Given the description of an element on the screen output the (x, y) to click on. 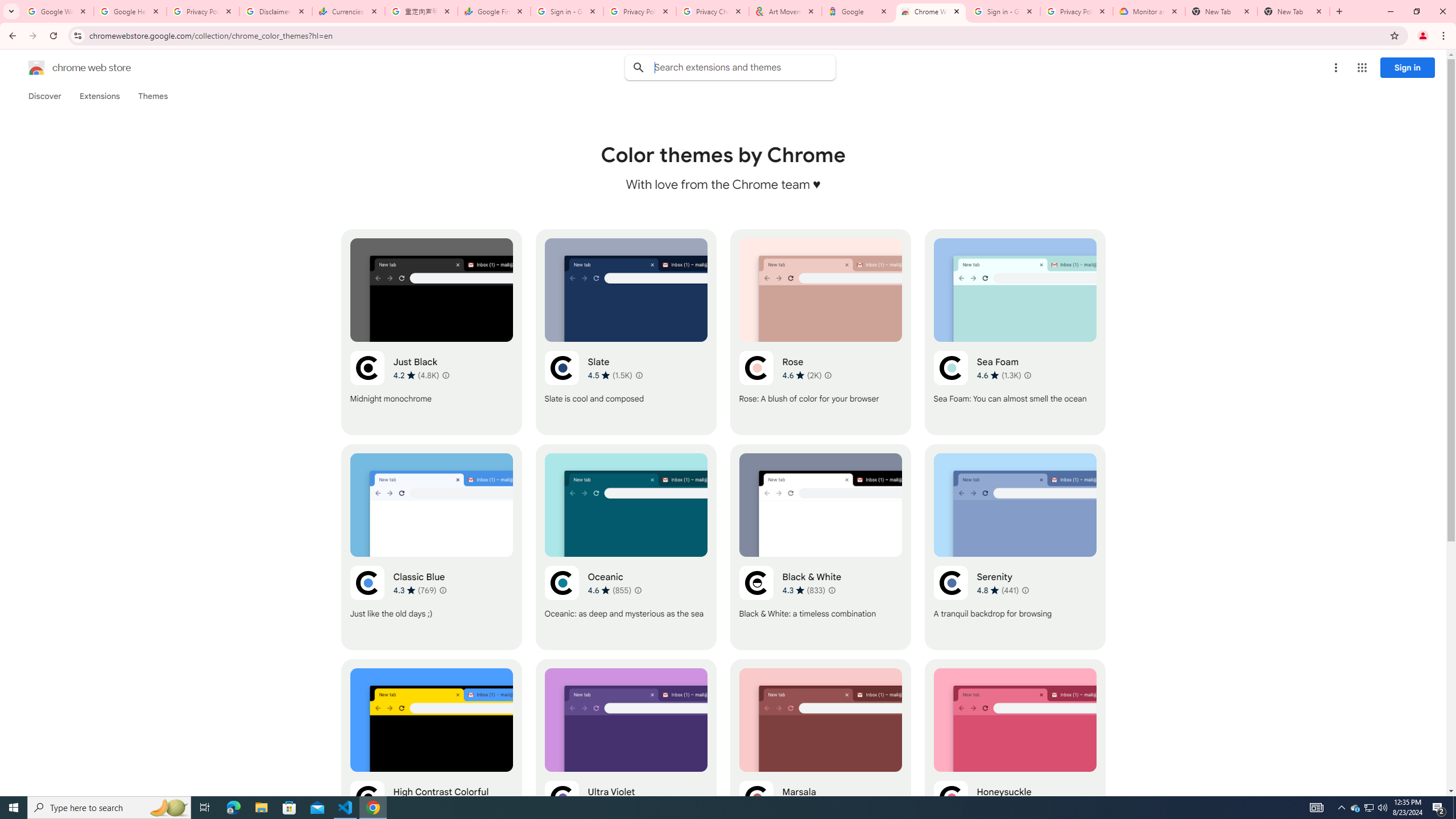
Classic Blue (431, 546)
Learn more about results and reviews "Slate" (638, 375)
Rose (820, 331)
Average rating 4.2 out of 5 stars. 4.8K ratings. (416, 375)
Sea Foam (1014, 331)
Slate (625, 331)
